Given the description of an element on the screen output the (x, y) to click on. 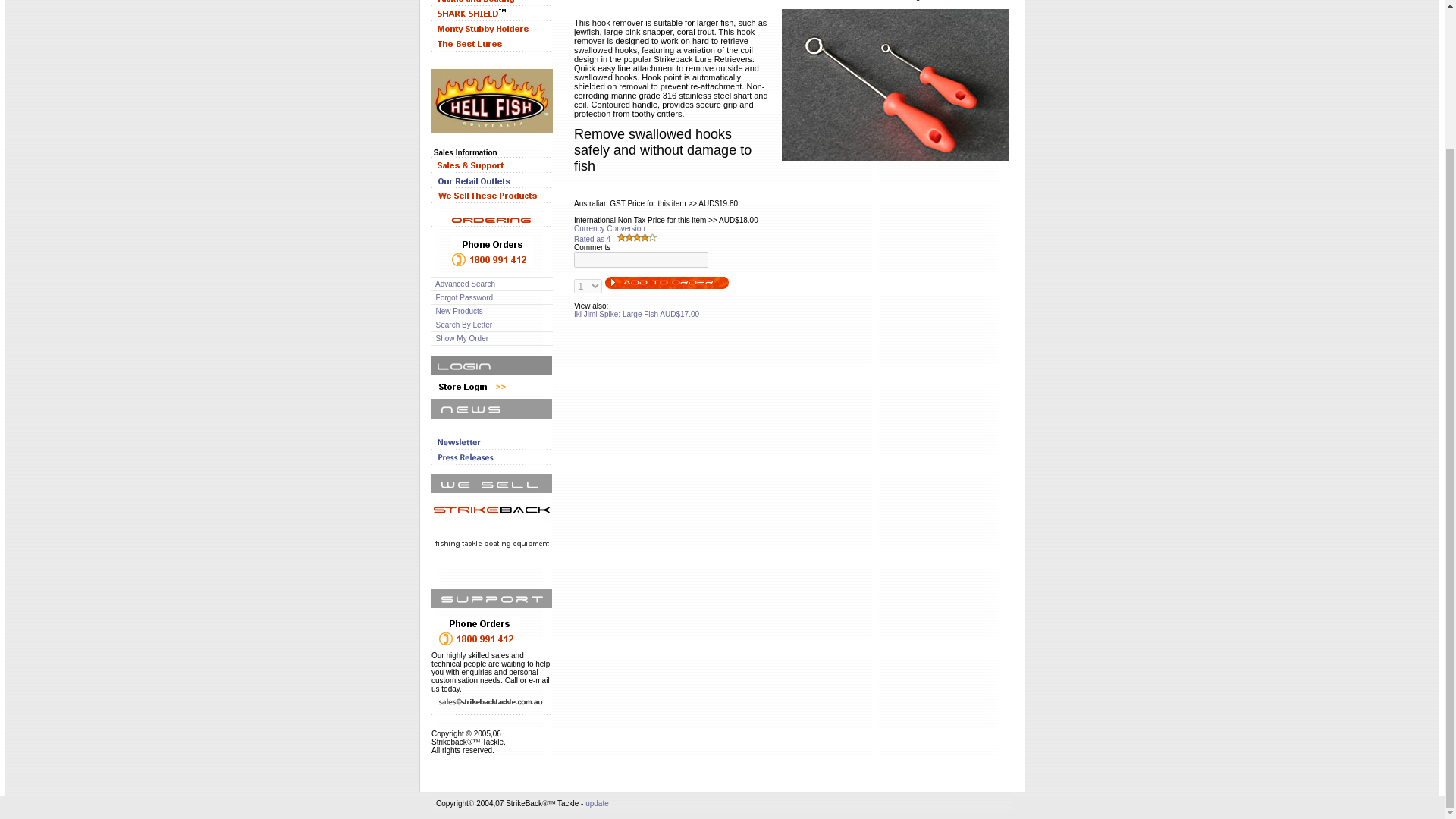
Search By Letter (463, 325)
Advanced Search (465, 284)
Currency Conversion (609, 228)
update (596, 803)
Show My Order (461, 338)
Forgot Password (464, 297)
New Products (459, 311)
Rated as 4 (591, 239)
